Given the description of an element on the screen output the (x, y) to click on. 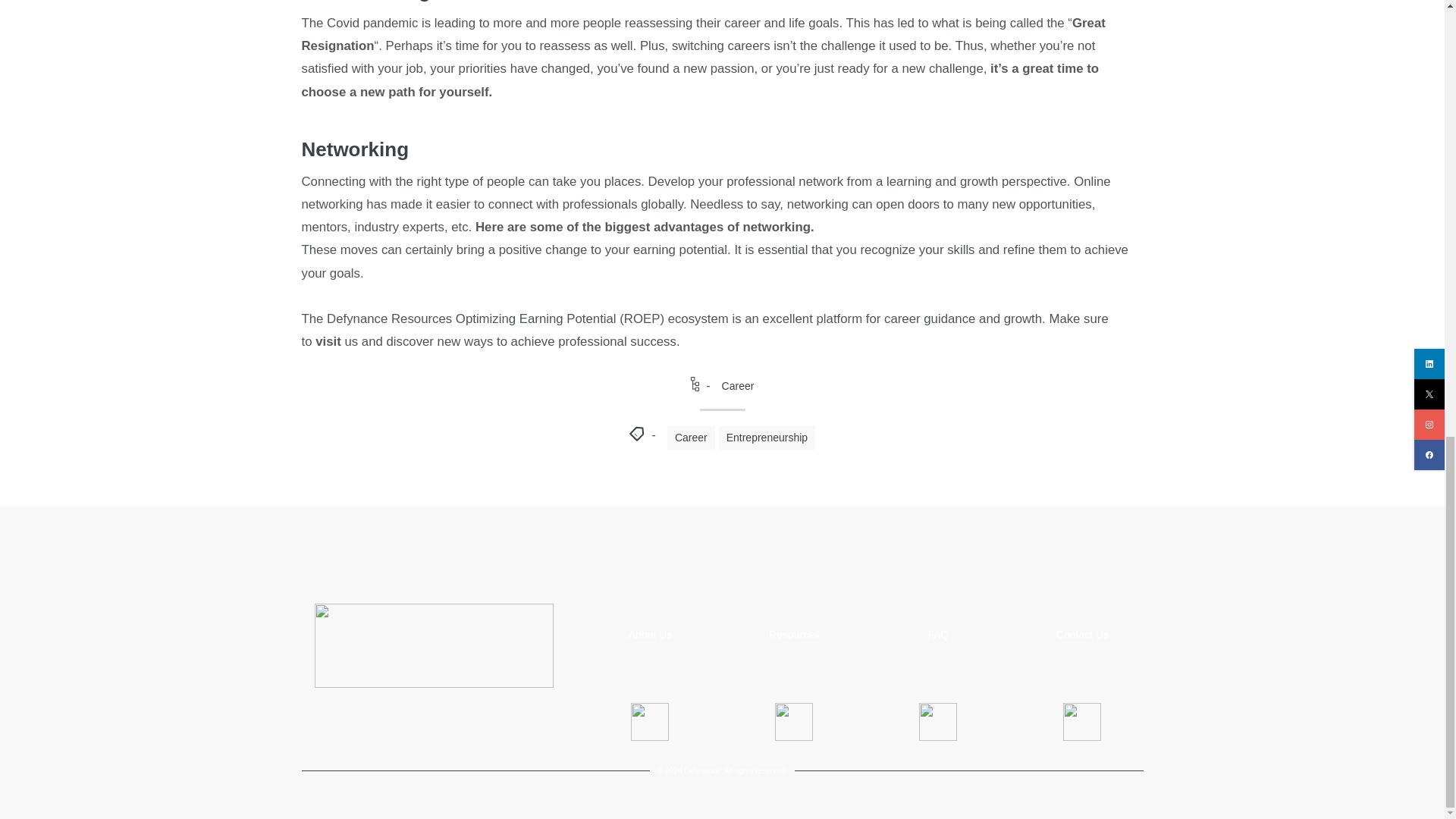
Here are some of the biggest advantages of networking. (644, 227)
Career (738, 386)
About Us (650, 634)
Great Resignation (703, 34)
visit (327, 341)
Career (690, 437)
Contact Us (1082, 634)
visit (327, 341)
Resources (793, 634)
Entrepreneurship (767, 437)
